Given the description of an element on the screen output the (x, y) to click on. 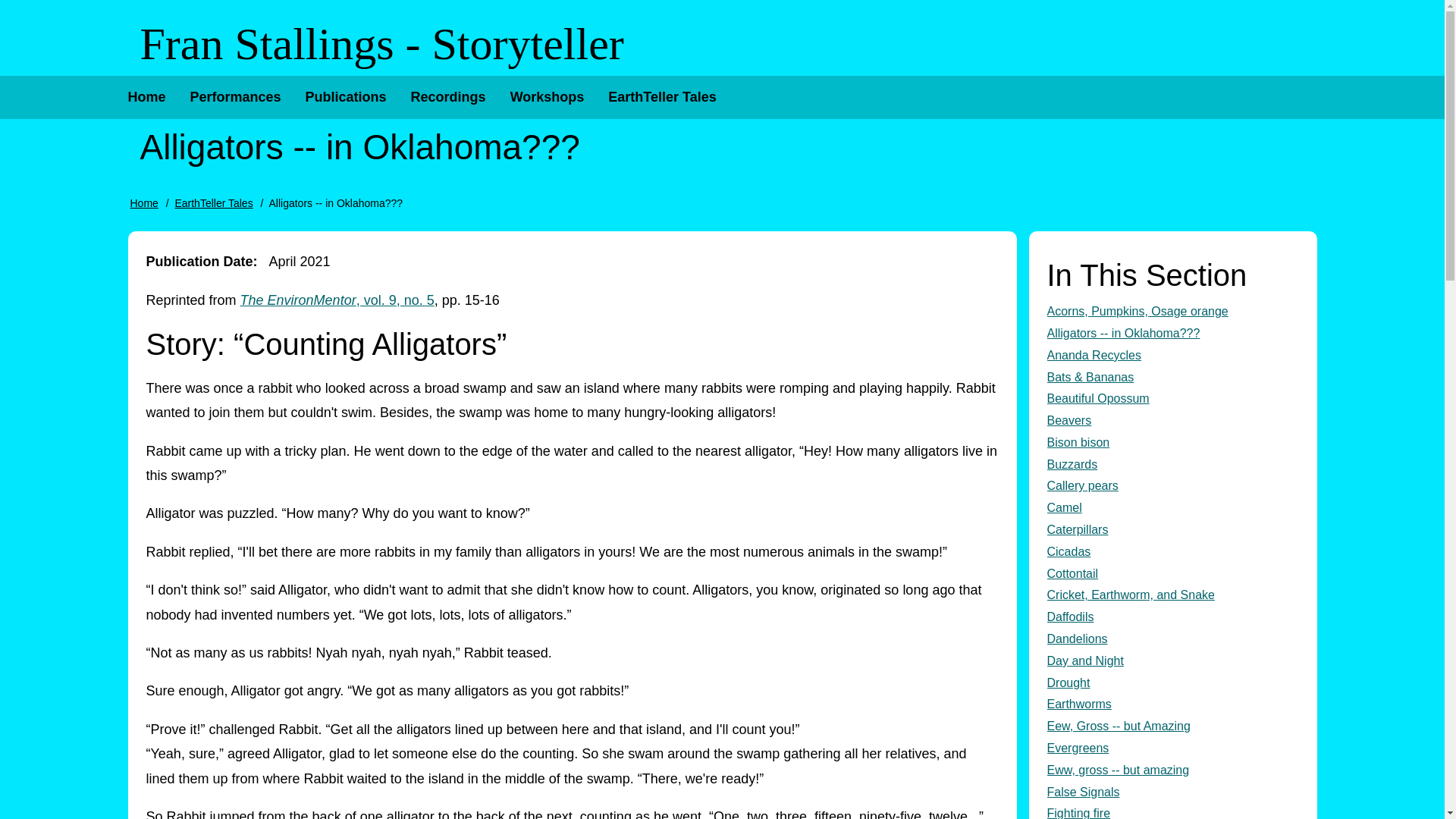
Cicadas (1172, 552)
Caterpillars (1172, 530)
Home (146, 96)
Bison bison (1172, 443)
Fran Stallings - Storyteller (381, 44)
Beautiful Opossum (1172, 399)
Fighting fire (1172, 811)
Cricket, Earthworm, and Snake (1172, 595)
Day and Night (1172, 661)
Ananda Recycles (1172, 355)
Performances (235, 96)
Eew, Gross -- but Amazing (1172, 726)
EarthTeller Tales (661, 96)
Daffodils (1172, 617)
